Given the description of an element on the screen output the (x, y) to click on. 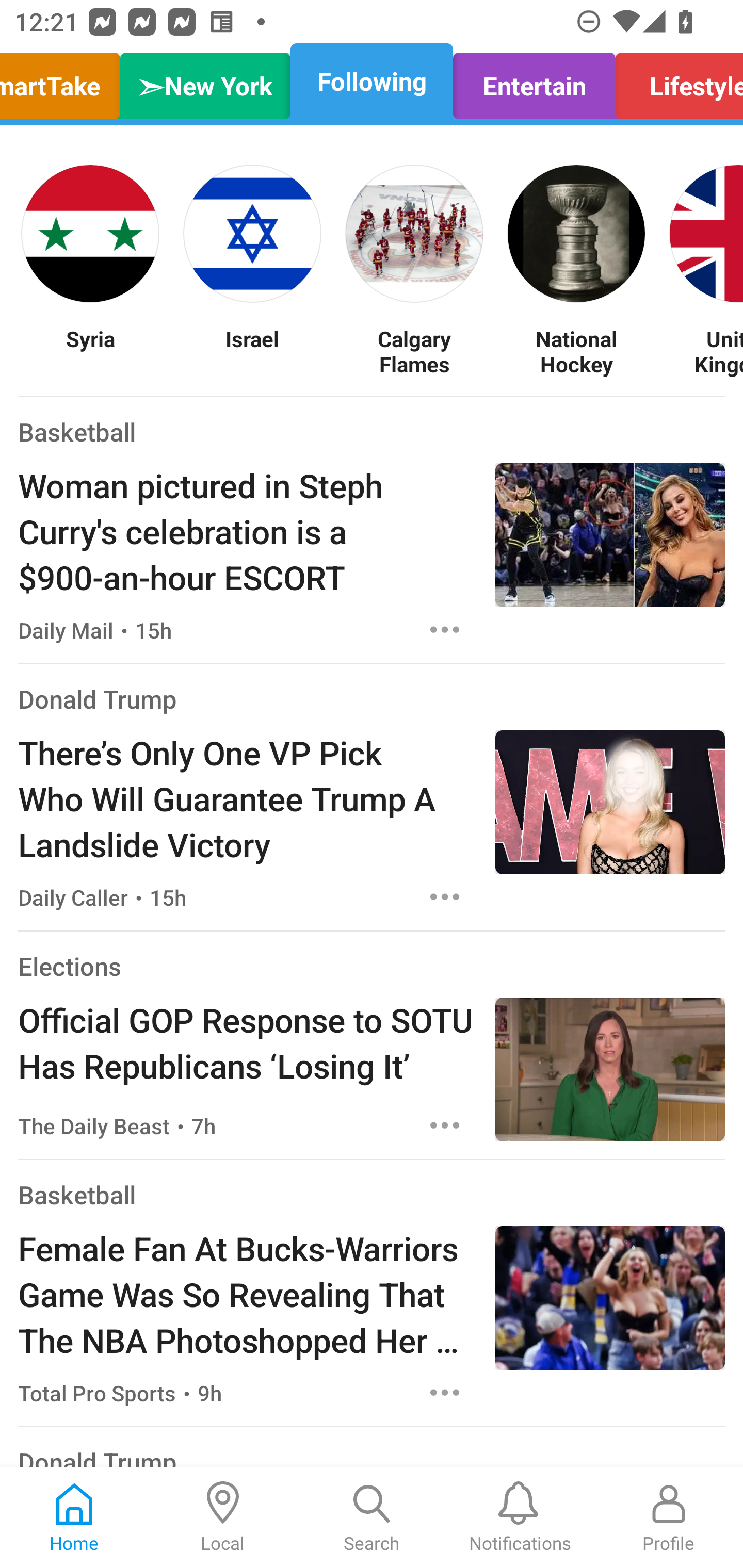
SmartTake (65, 81)
➣New York (205, 81)
Following (371, 81)
Entertain (534, 81)
Syria (89, 350)
Israel (251, 350)
Calgary Flames (413, 350)
National Hockey League (575, 350)
Basketball (76, 430)
Options (444, 629)
Donald Trump (97, 699)
Options (444, 896)
Elections (69, 965)
Options (444, 1125)
Basketball (76, 1194)
Options (444, 1392)
Local (222, 1517)
Search (371, 1517)
Notifications (519, 1517)
Profile (668, 1517)
